Given the description of an element on the screen output the (x, y) to click on. 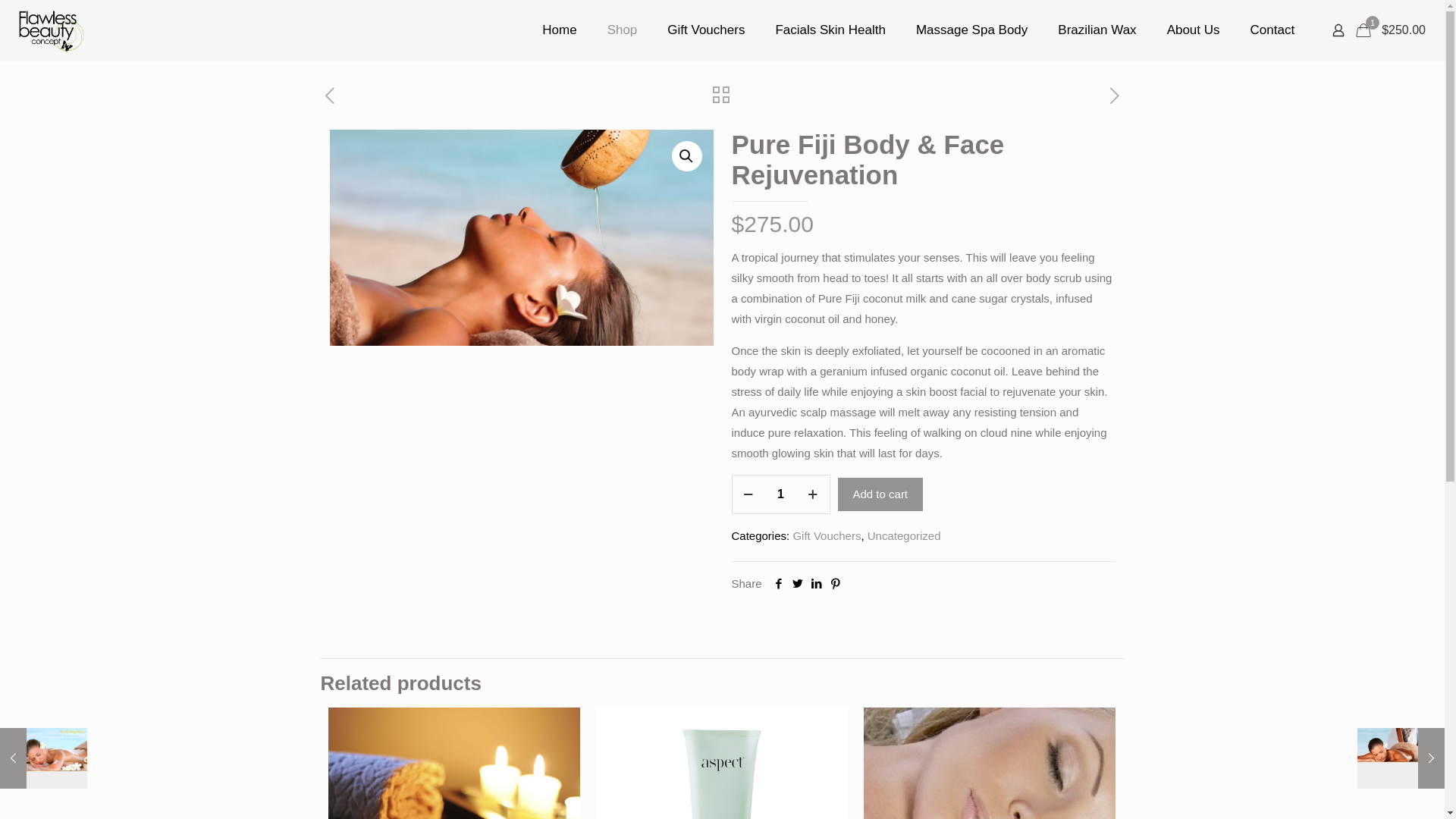
Facials Skin Health Element type: text (829, 30)
Gift Vouchers Element type: text (826, 535)
Spa Body Treatments Element type: hover (520, 237)
Contact Element type: text (1272, 30)
Home Element type: text (559, 30)
Add to cart Element type: text (879, 494)
Flawlessbeauty Element type: hover (51, 30)
Brazilian Wax Element type: text (1096, 30)
Gift Vouchers Element type: text (705, 30)
About Us Element type: text (1193, 30)
1
$250.00 Element type: text (1392, 29)
Shop Element type: text (622, 30)
Uncategorized Element type: text (904, 535)
Massage Spa Body Element type: text (971, 30)
